Given the description of an element on the screen output the (x, y) to click on. 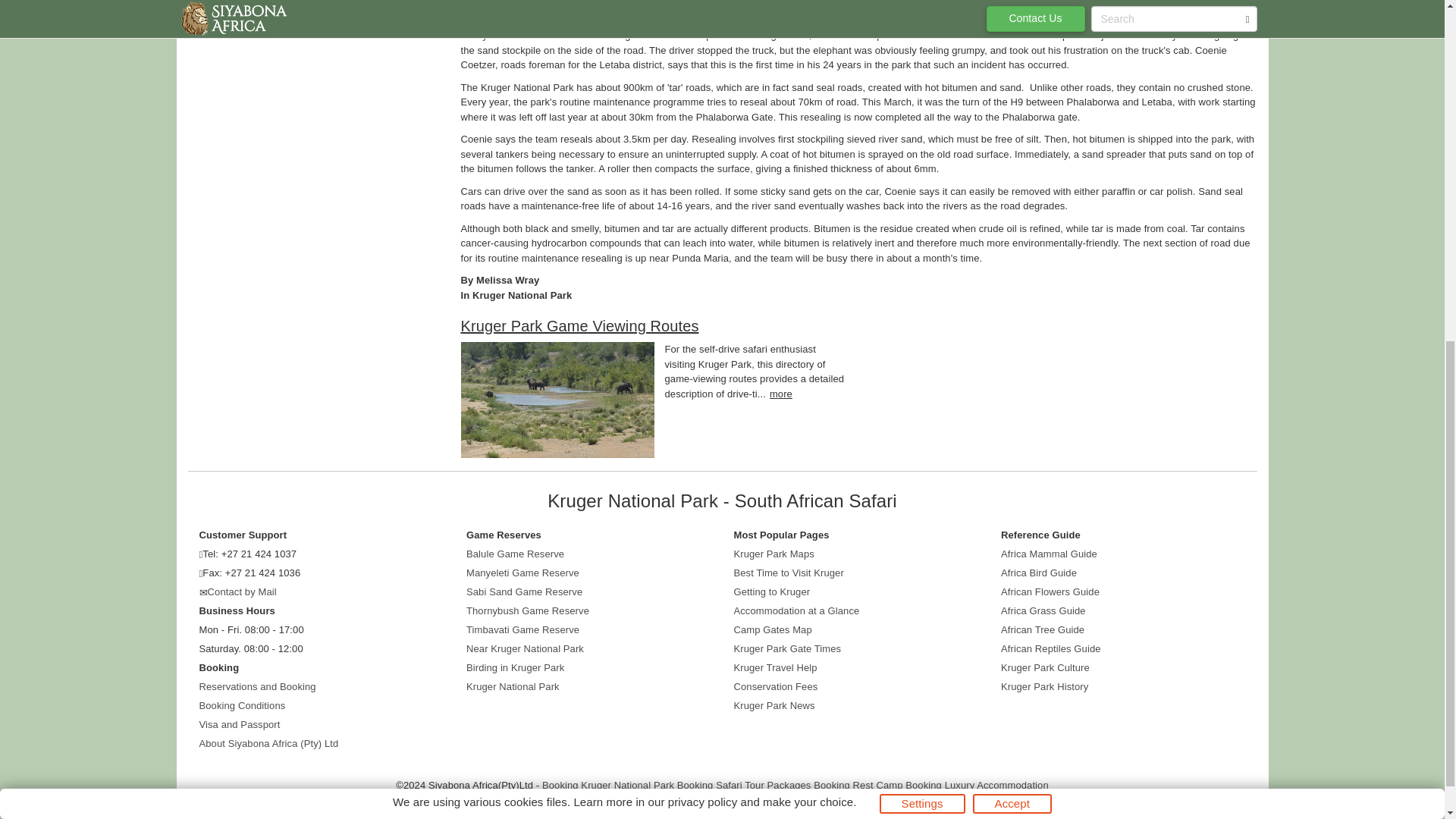
Kruger National Park (512, 686)
more (781, 393)
African Tree Guide (1042, 629)
Getting to Kruger (771, 591)
Africa Grass Guide (1043, 610)
Near Kruger National Park (524, 648)
Africa Mammal Guide (1049, 553)
Africa Bird Guide (1039, 572)
Kruger Park News (774, 705)
Kruger Park Maps (773, 553)
Manyeleti Game Reserve (522, 572)
Balule Game Reserve (514, 553)
Reservations and Booking (256, 686)
African Flowers Guide (1050, 591)
Booking Conditions (241, 705)
